Given the description of an element on the screen output the (x, y) to click on. 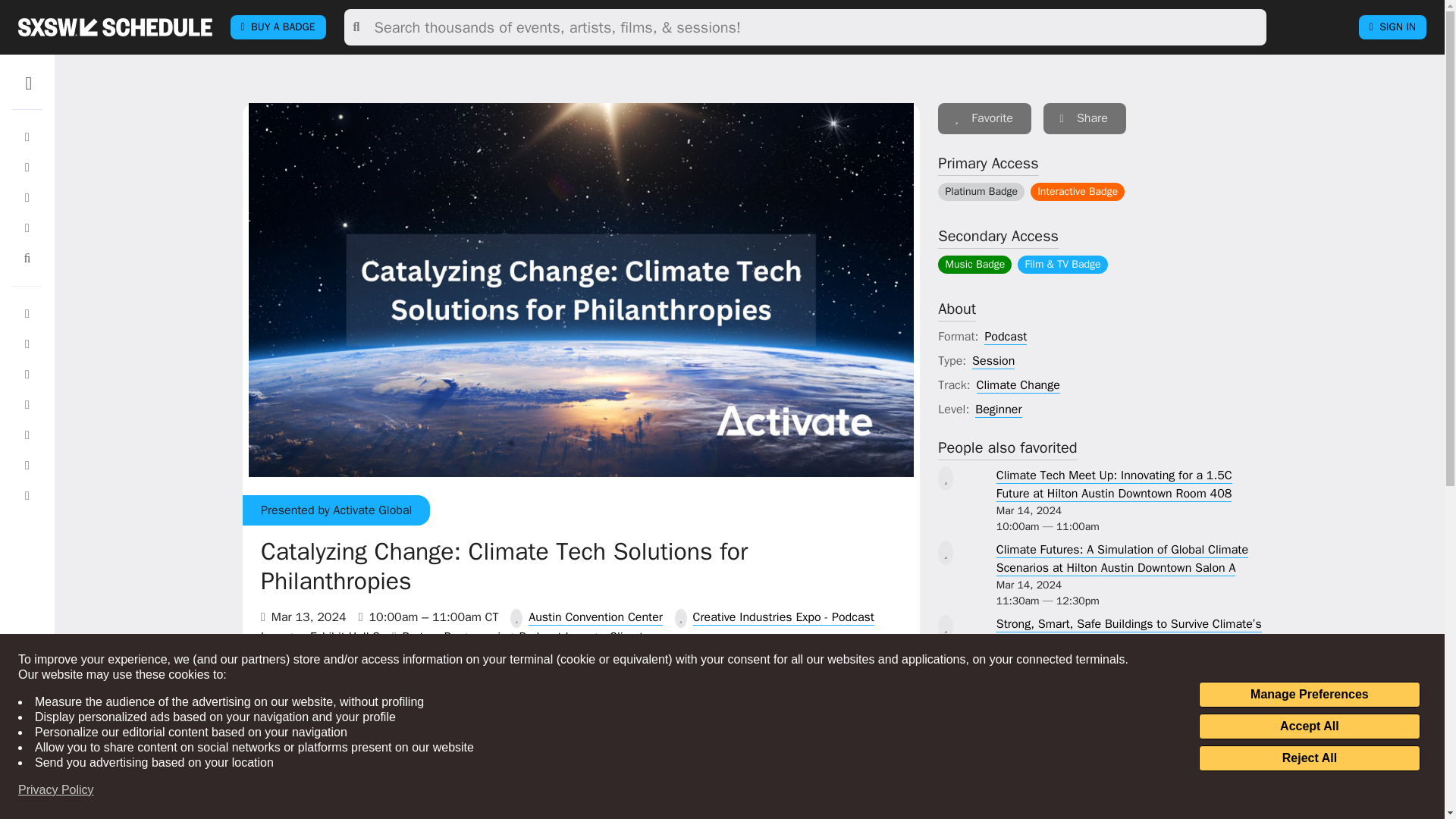
Sign In to add to your favorites. (983, 118)
Austin Convention Center (595, 617)
Accept All (1309, 726)
Reject All (1309, 758)
Sign In to add to your favorites. (818, 703)
Sign In to add to your favorites. (818, 792)
sxsw SCHEDULE (114, 27)
SIGN IN (1392, 27)
Manage Preferences (1309, 694)
